Given the description of an element on the screen output the (x, y) to click on. 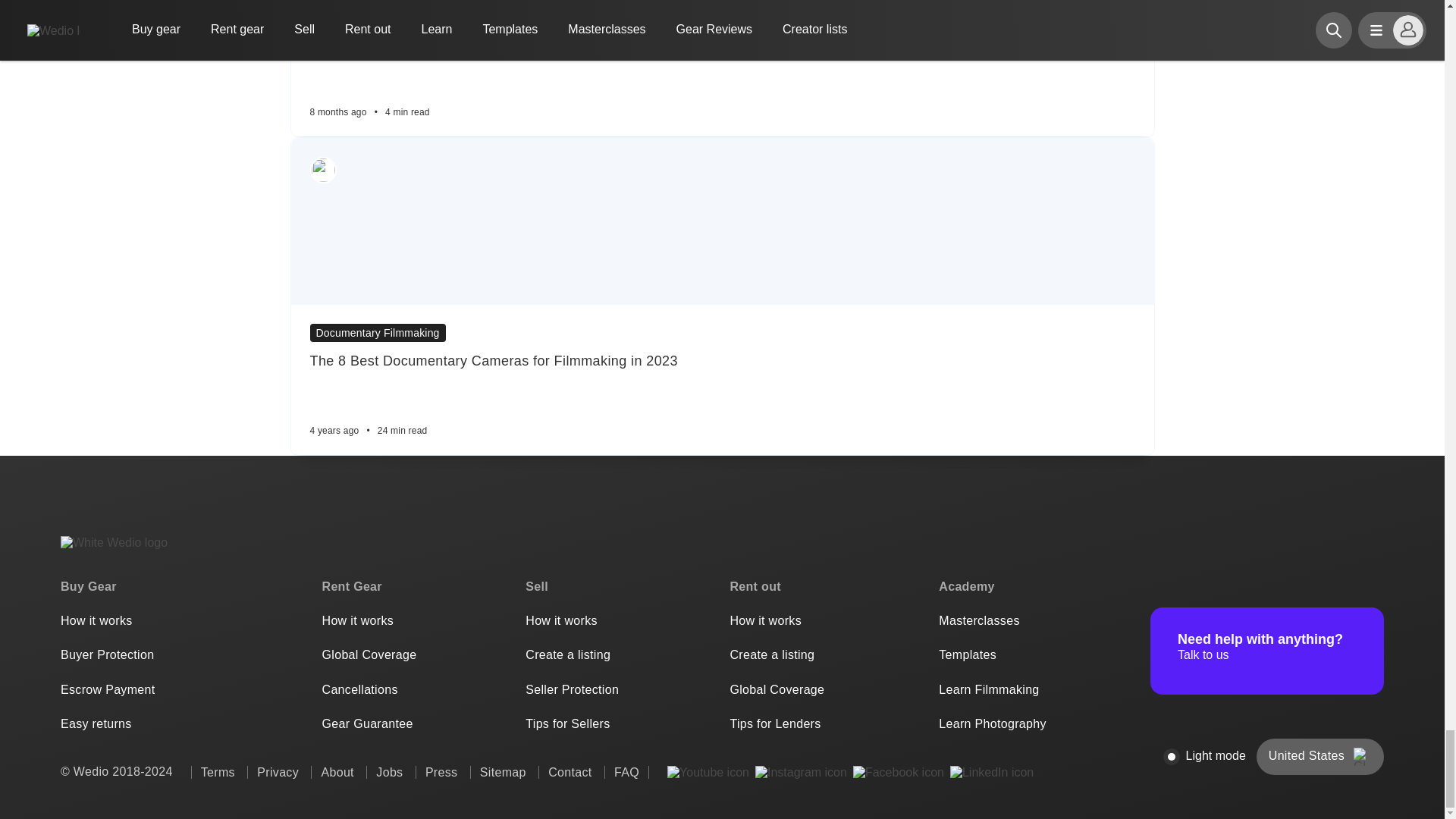
5 Best Places to Rent Drones in London (721, 42)
The 8 Best Documentary Cameras for Filmmaking in 2023 (721, 361)
